Given the description of an element on the screen output the (x, y) to click on. 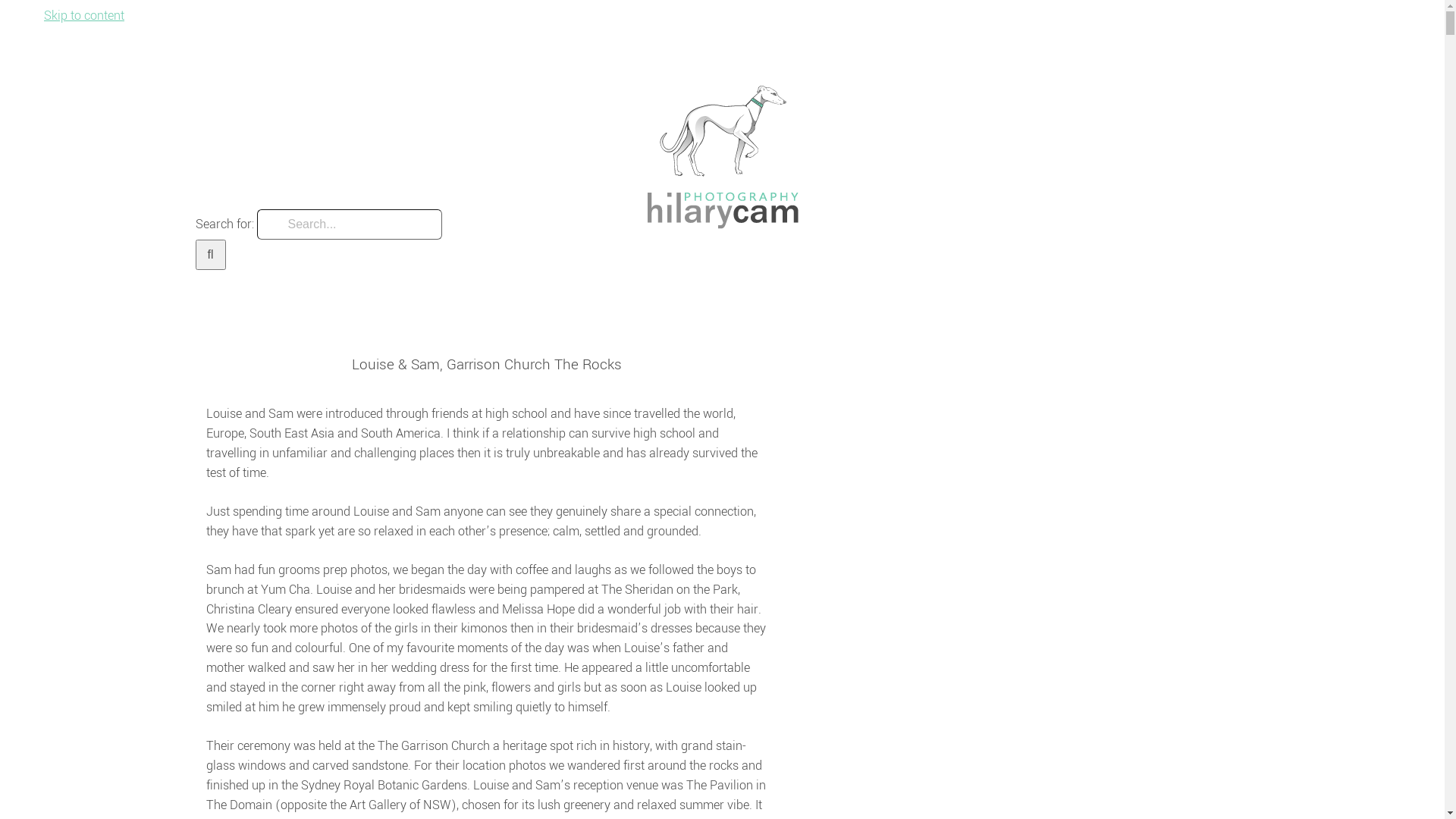
Skip to content Element type: text (83, 15)
